Given the description of an element on the screen output the (x, y) to click on. 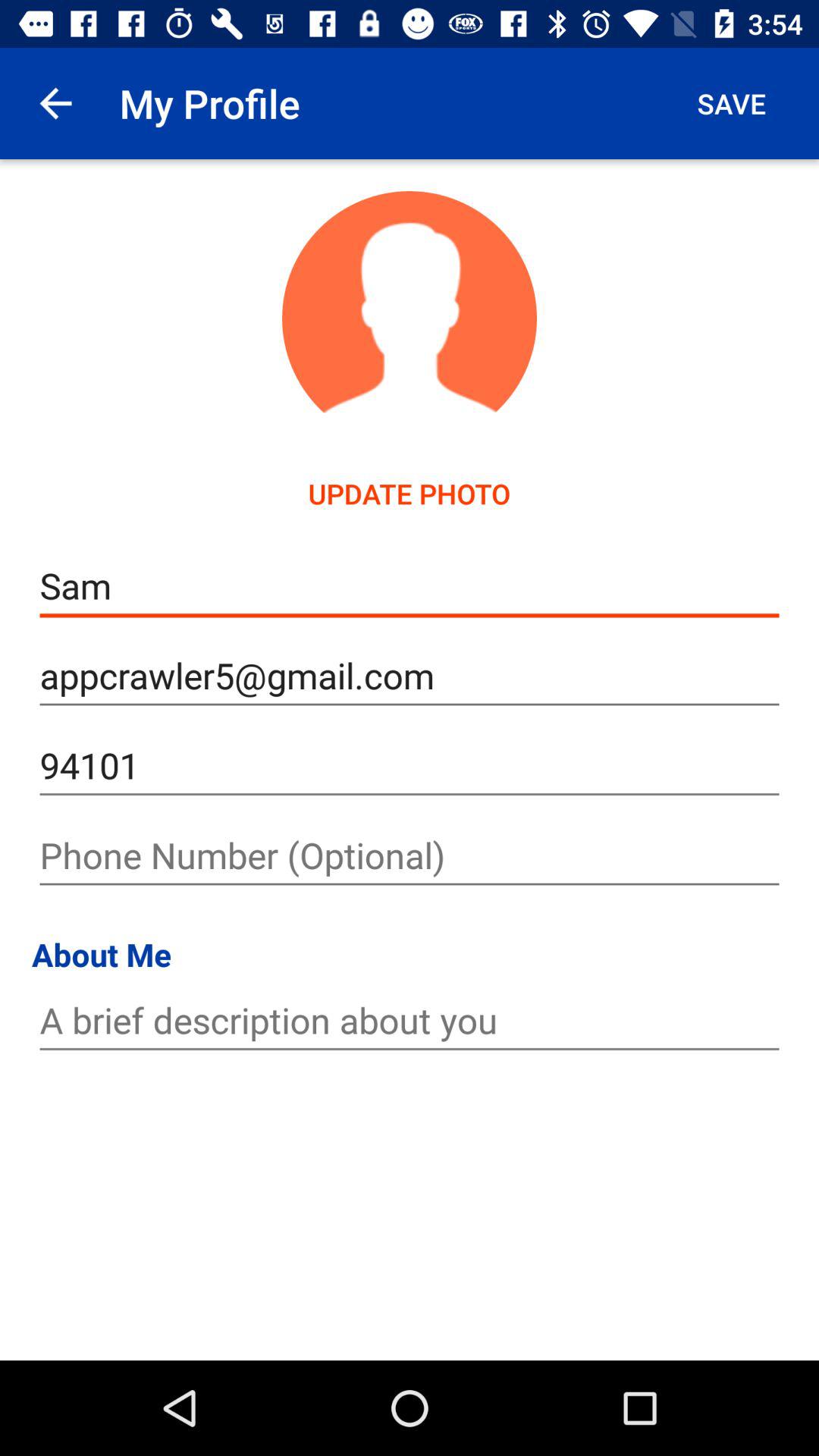
press sam (409, 586)
